Given the description of an element on the screen output the (x, y) to click on. 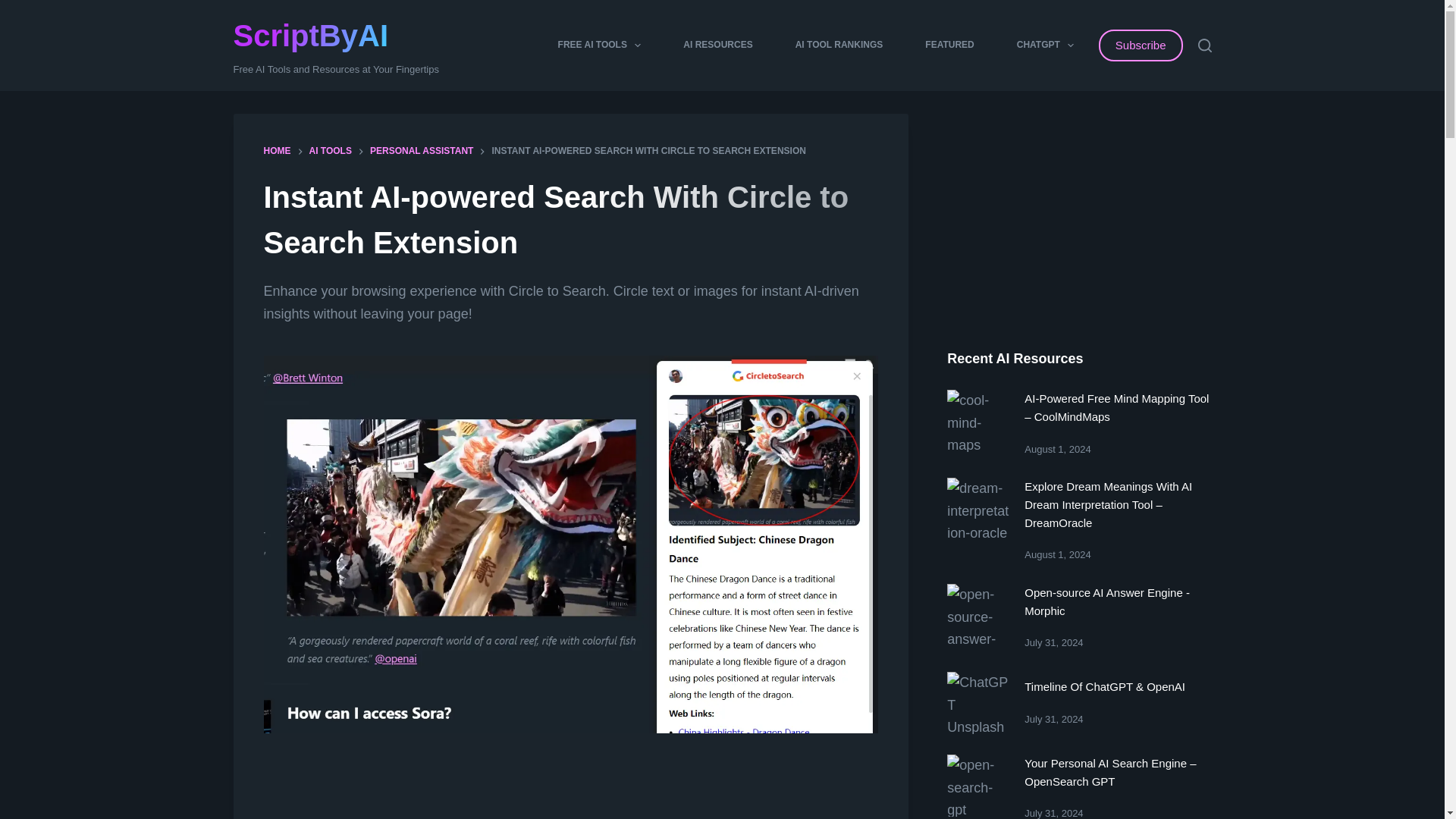
Instant AI-powered Search With Circle to Search Extension (570, 219)
Skip to content (15, 7)
FREE AI TOOLS (599, 45)
ScriptByAI (310, 35)
